Given the description of an element on the screen output the (x, y) to click on. 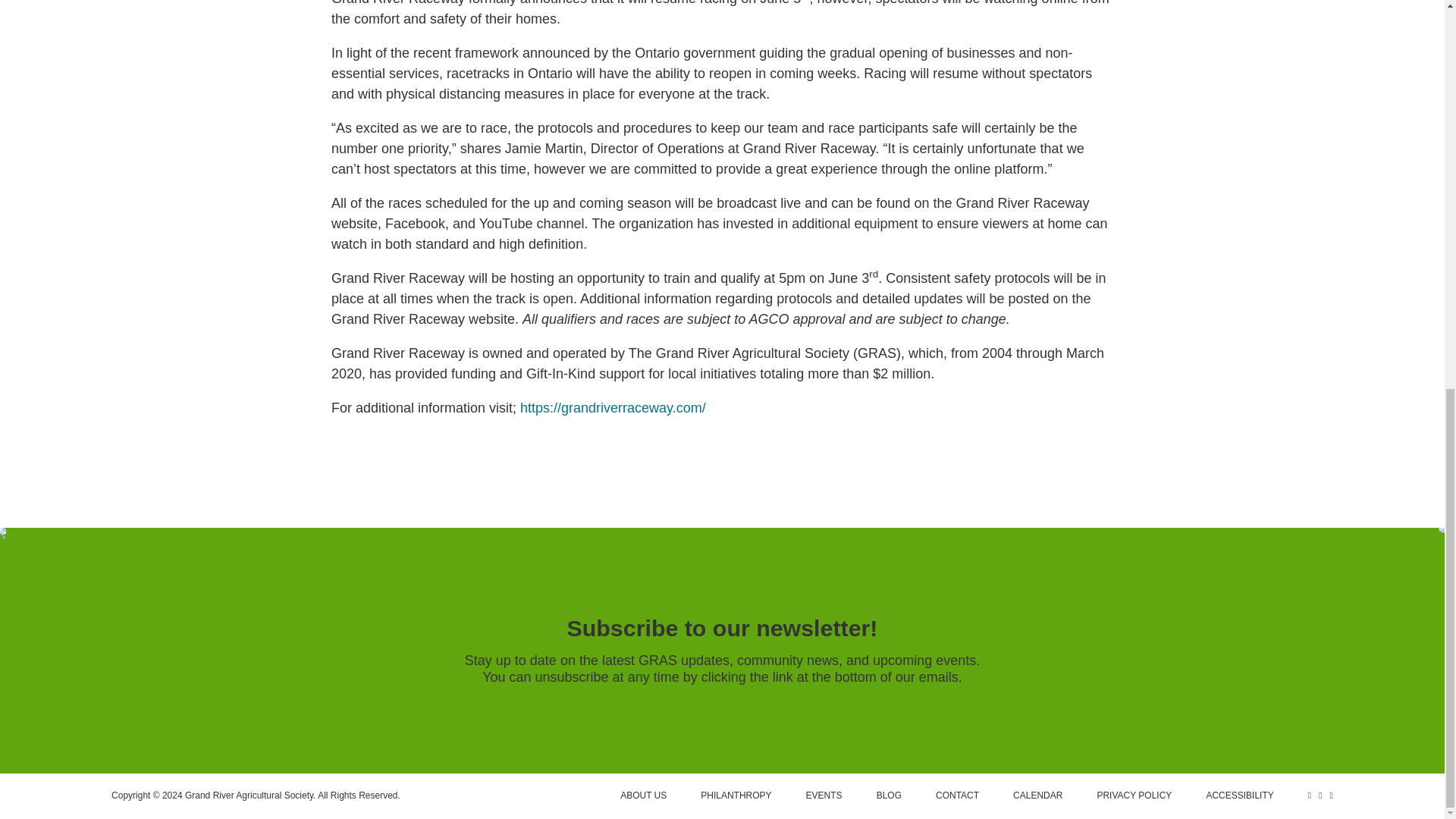
CALENDAR (1037, 795)
PRIVACY POLICY (1134, 795)
CONTACT (957, 795)
BLOG (888, 795)
PHILANTHROPY (735, 795)
ACCESSIBILITY (1238, 795)
EVENTS (824, 795)
ABOUT US (643, 795)
